Given the description of an element on the screen output the (x, y) to click on. 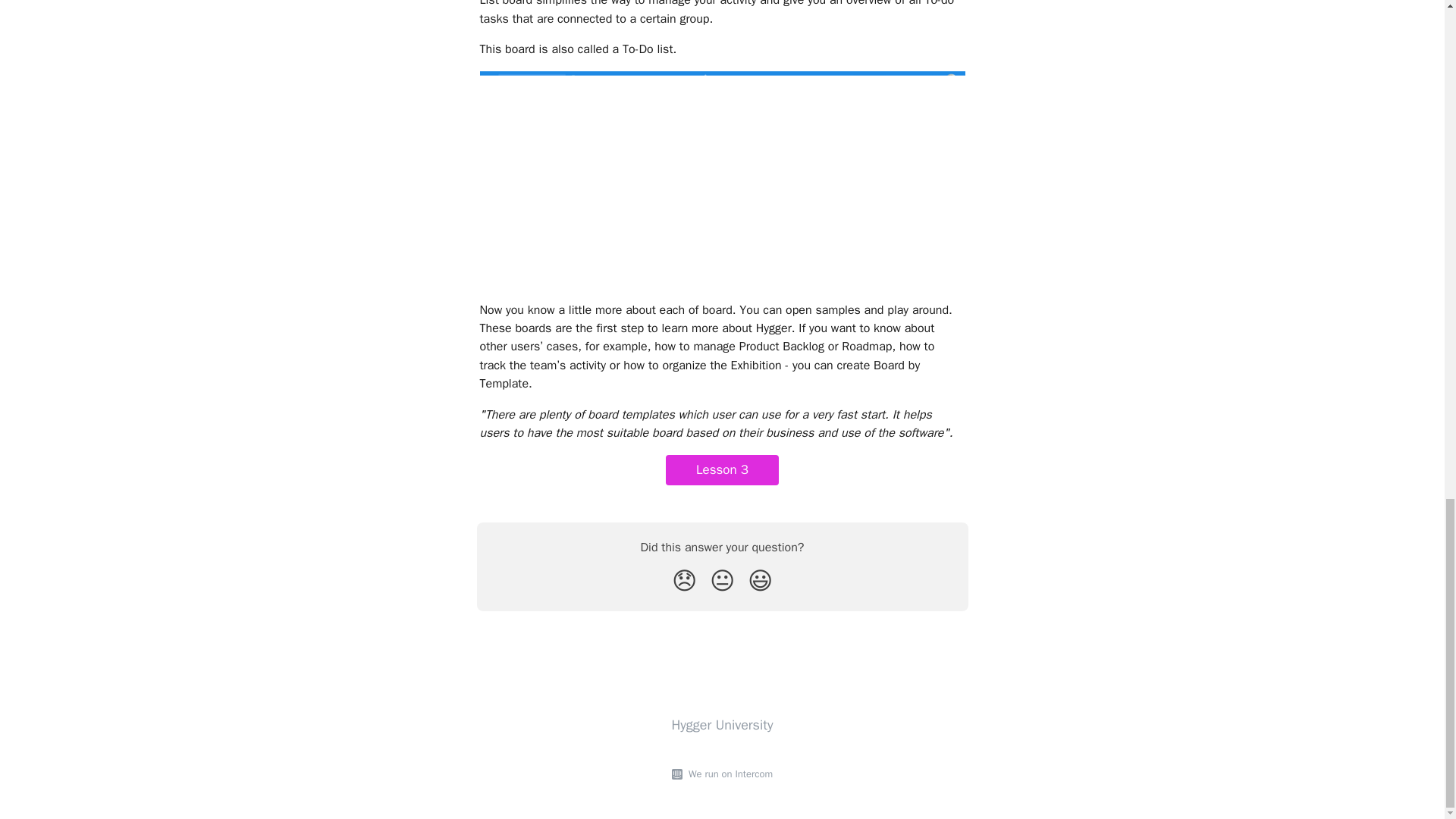
Disappointed (684, 581)
Lesson 3 (721, 470)
Neutral (722, 581)
Smiley (760, 581)
We run on Intercom (727, 774)
Hygger University (722, 724)
